Given the description of an element on the screen output the (x, y) to click on. 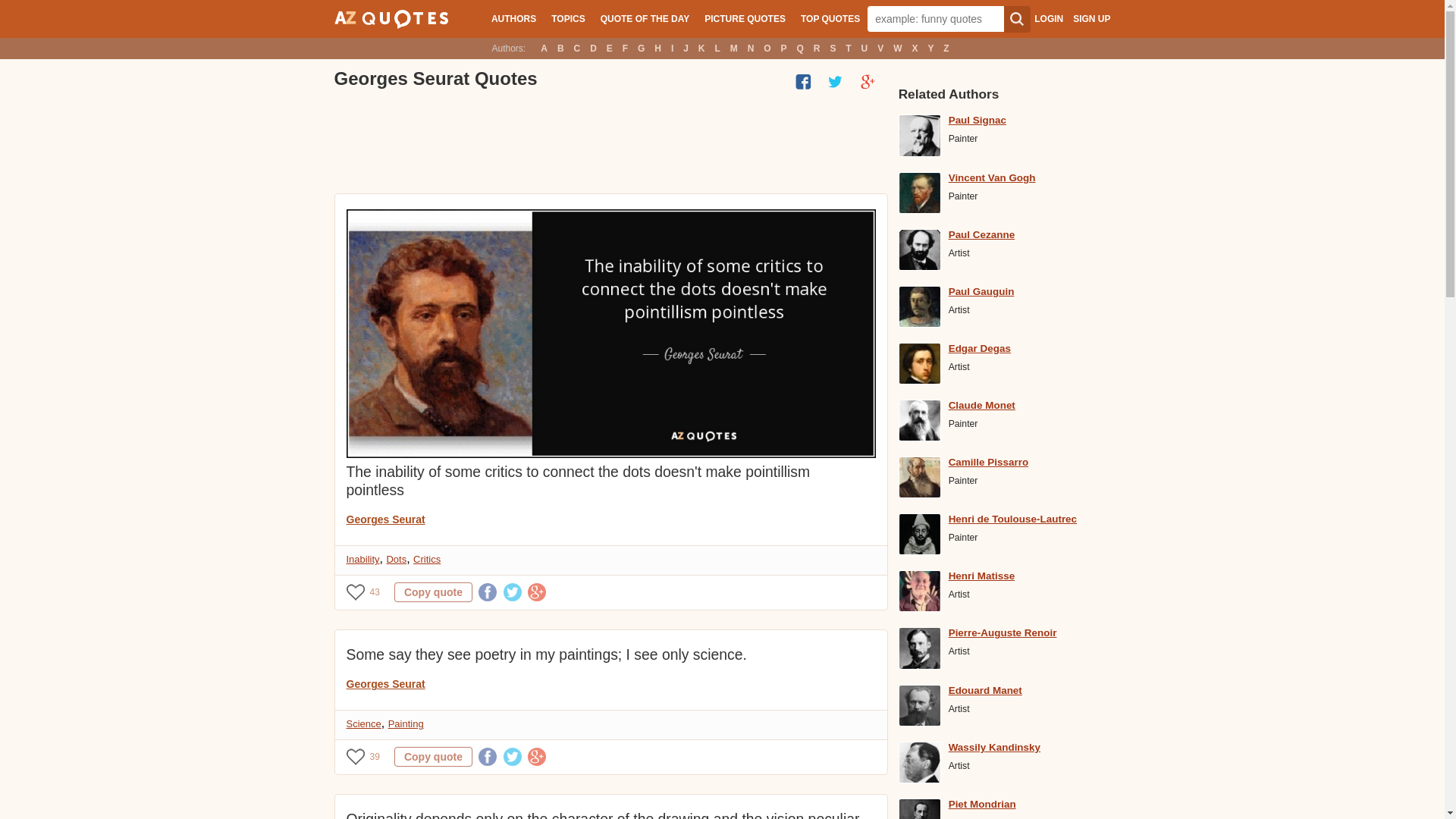
B (560, 47)
P (783, 47)
Y (930, 47)
QUOTE OF THE DAY (644, 18)
G (640, 47)
TOP QUOTES (830, 18)
M (733, 47)
H (656, 47)
T (849, 47)
L (717, 47)
PICTURE QUOTES (745, 18)
I (671, 47)
X (914, 47)
R (816, 47)
S (833, 47)
